Given the description of an element on the screen output the (x, y) to click on. 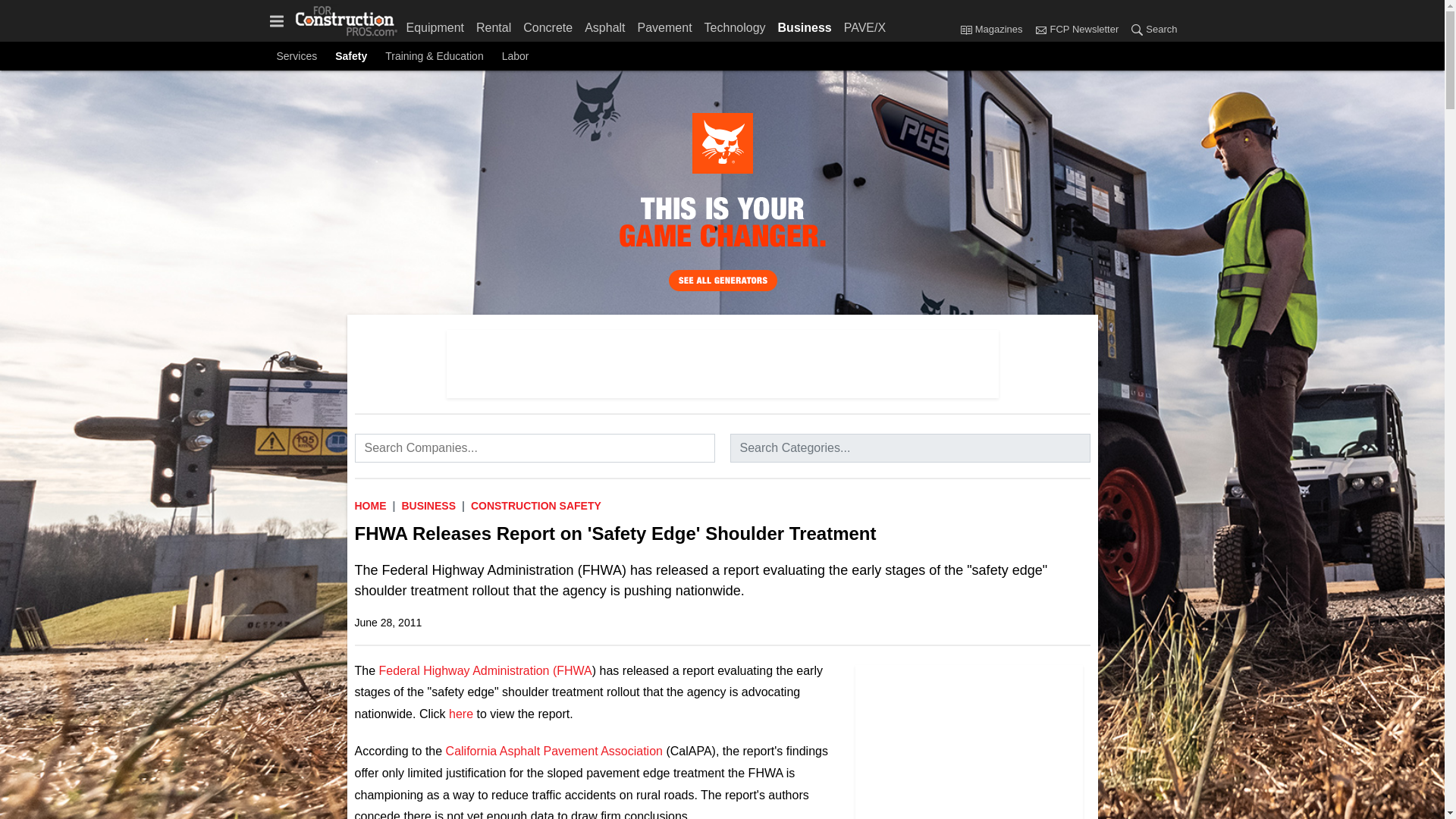
Business (804, 24)
Magazines (994, 29)
Pavement (664, 24)
Magazines (965, 29)
Rental (493, 24)
Technology (734, 24)
Labor (515, 55)
Safety (350, 55)
Construction Safety (535, 505)
Search (1150, 29)
Business (428, 505)
FCP Newsletter (1075, 29)
Concrete (547, 24)
